Given the description of an element on the screen output the (x, y) to click on. 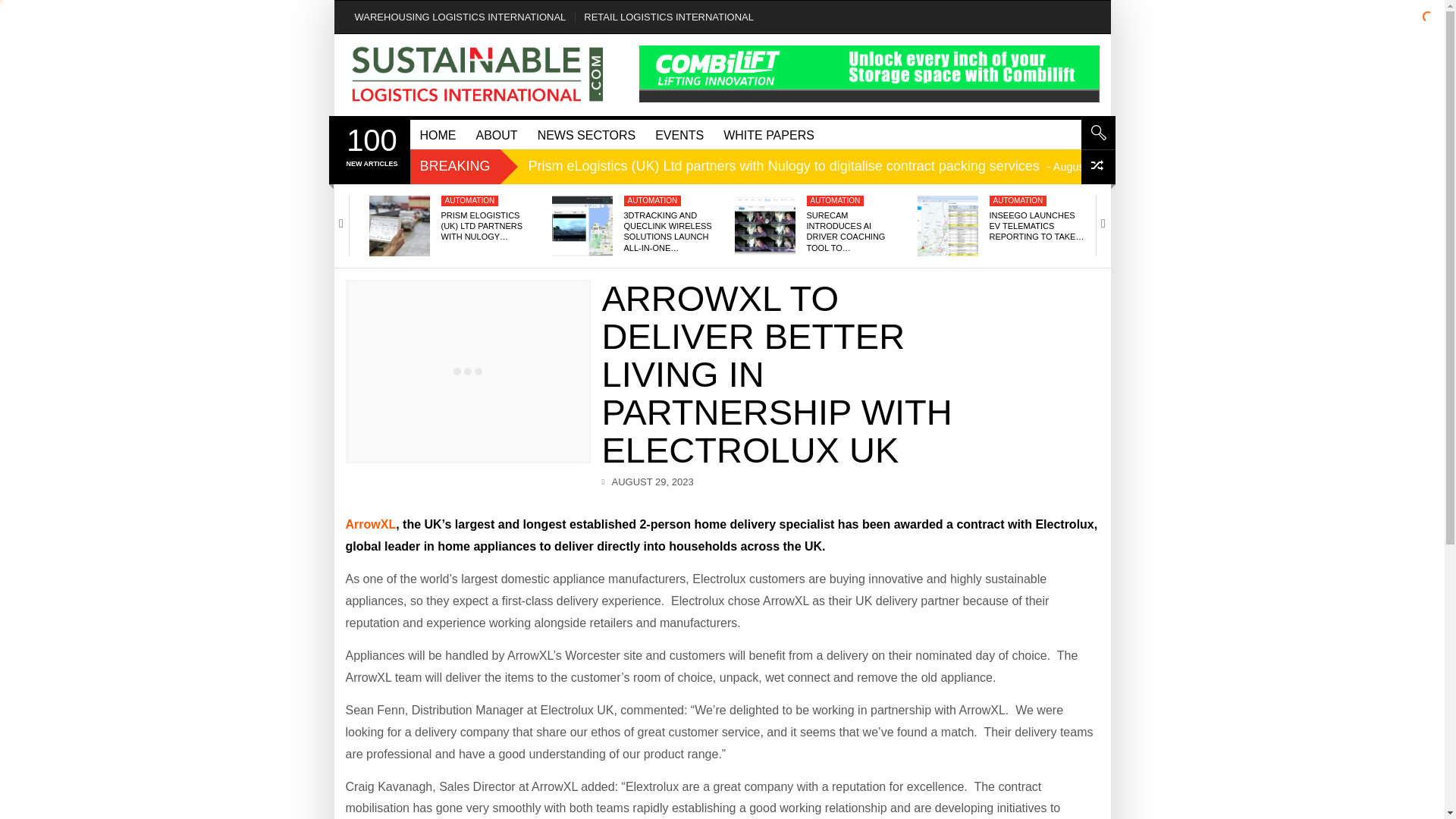
Random (1098, 166)
WAREHOUSING LOGISTICS INTERNATIONAL (460, 16)
BREAKING (455, 165)
WHITE PAPERS (768, 134)
Sustainable Logistics International (478, 74)
Search (1098, 132)
ABOUT (496, 134)
EVENTS (370, 145)
HOME (679, 134)
